Given the description of an element on the screen output the (x, y) to click on. 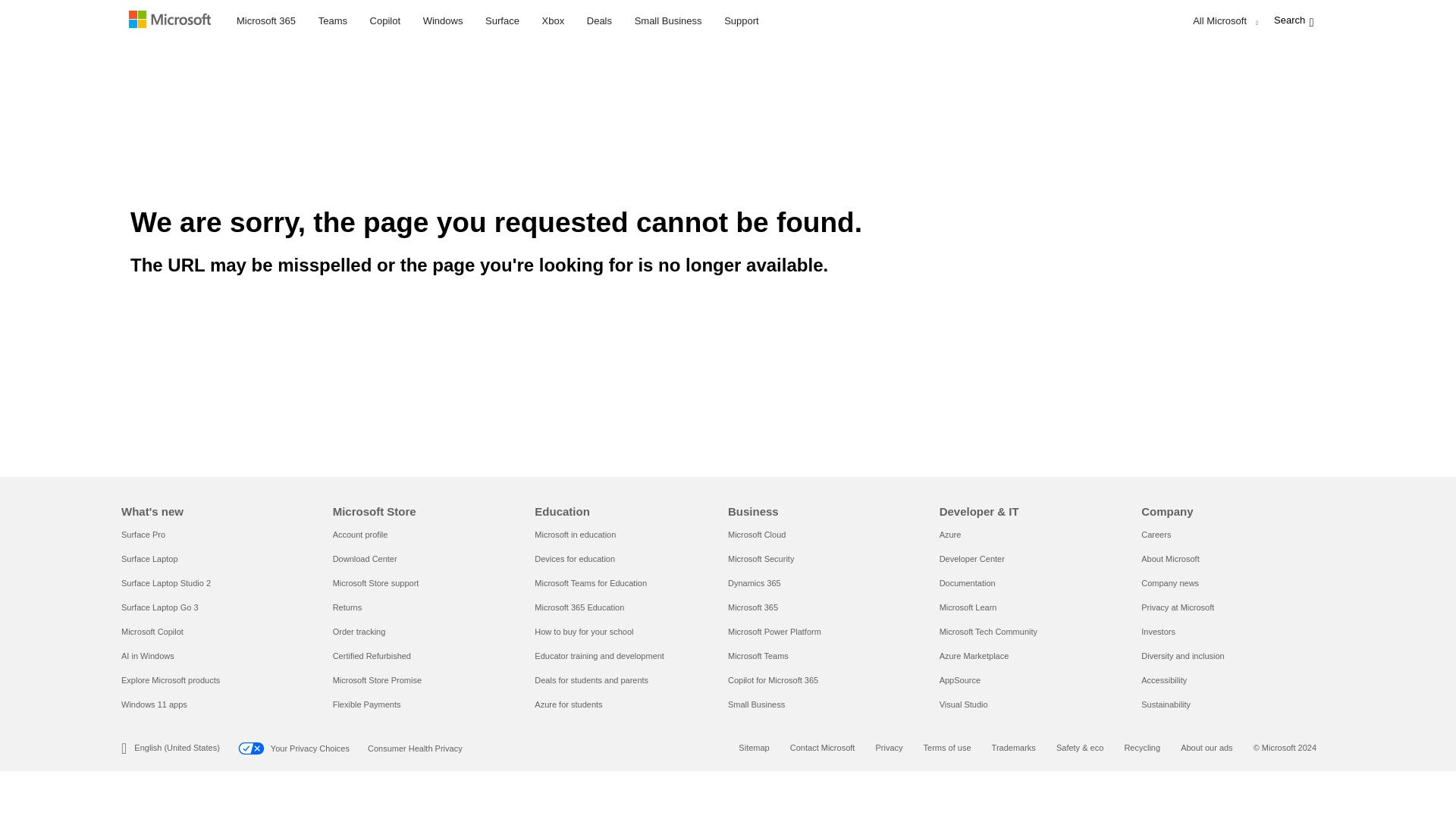
Microsoft 365 (266, 18)
Teams (332, 18)
Deals (598, 18)
Xbox (553, 18)
Microsoft (172, 20)
Copilot (384, 18)
Small Business (668, 18)
Surface (502, 18)
All Microsoft (1222, 20)
Support (741, 18)
Windows (443, 18)
